Given the description of an element on the screen output the (x, y) to click on. 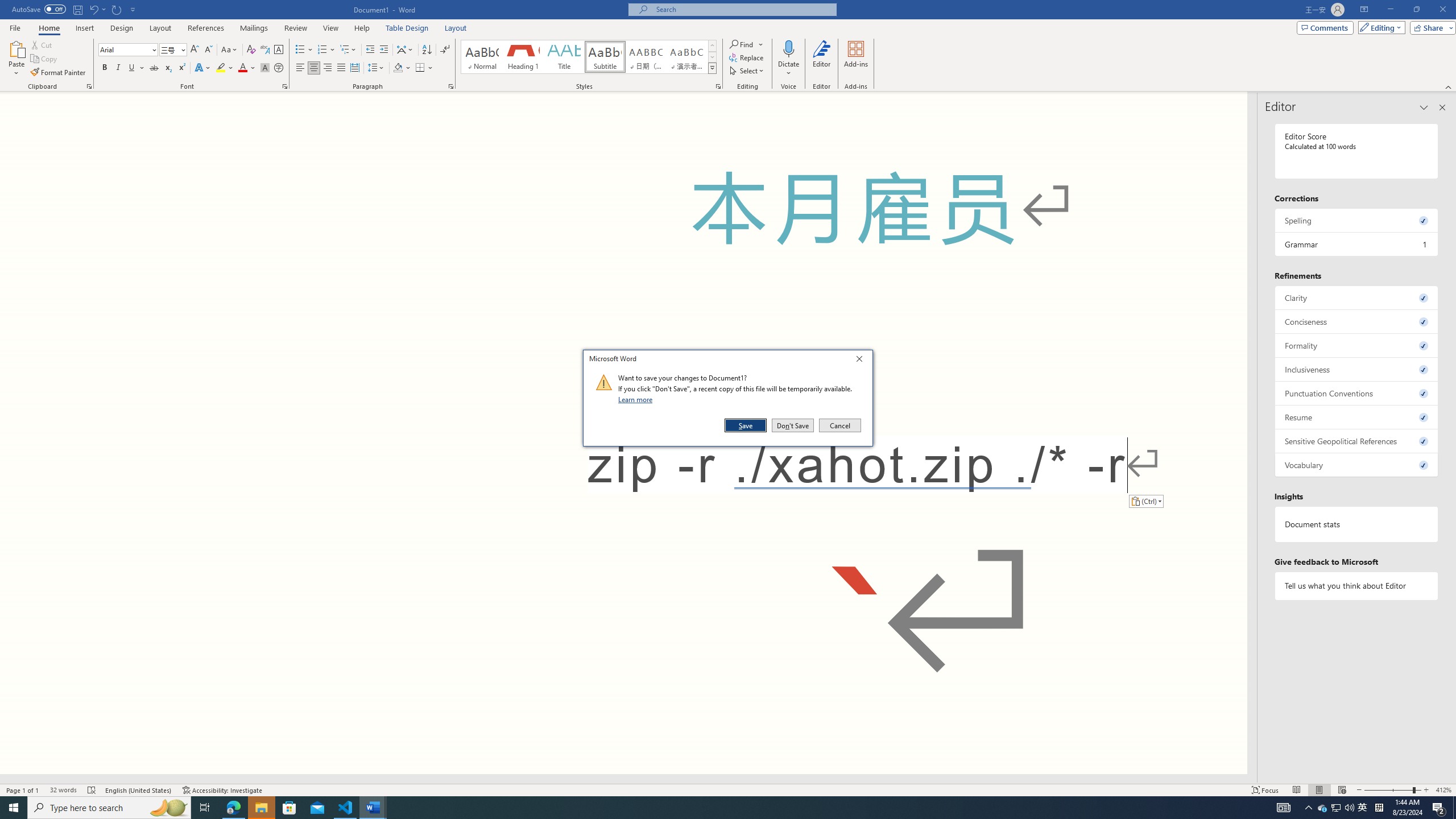
Spelling, 0 issues. Press space or enter to review items. (1356, 219)
Don't Save (792, 425)
Learn more (636, 399)
Tray Input Indicator - Chinese (Simplified, China) (1378, 807)
Conciseness, 0 issues. Press space or enter to review items. (1356, 321)
